Given the description of an element on the screen output the (x, y) to click on. 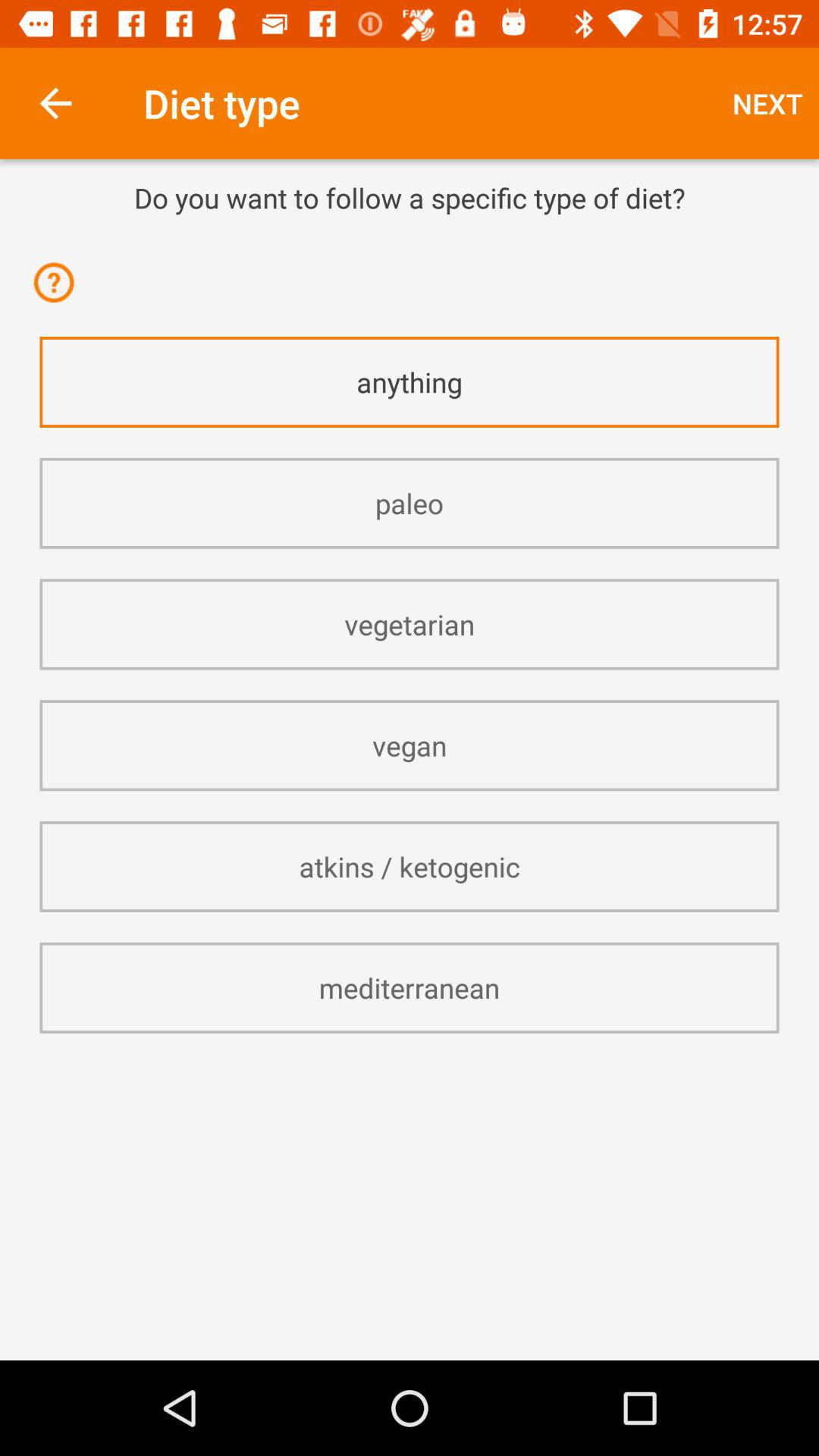
press item below vegan item (409, 866)
